Given the description of an element on the screen output the (x, y) to click on. 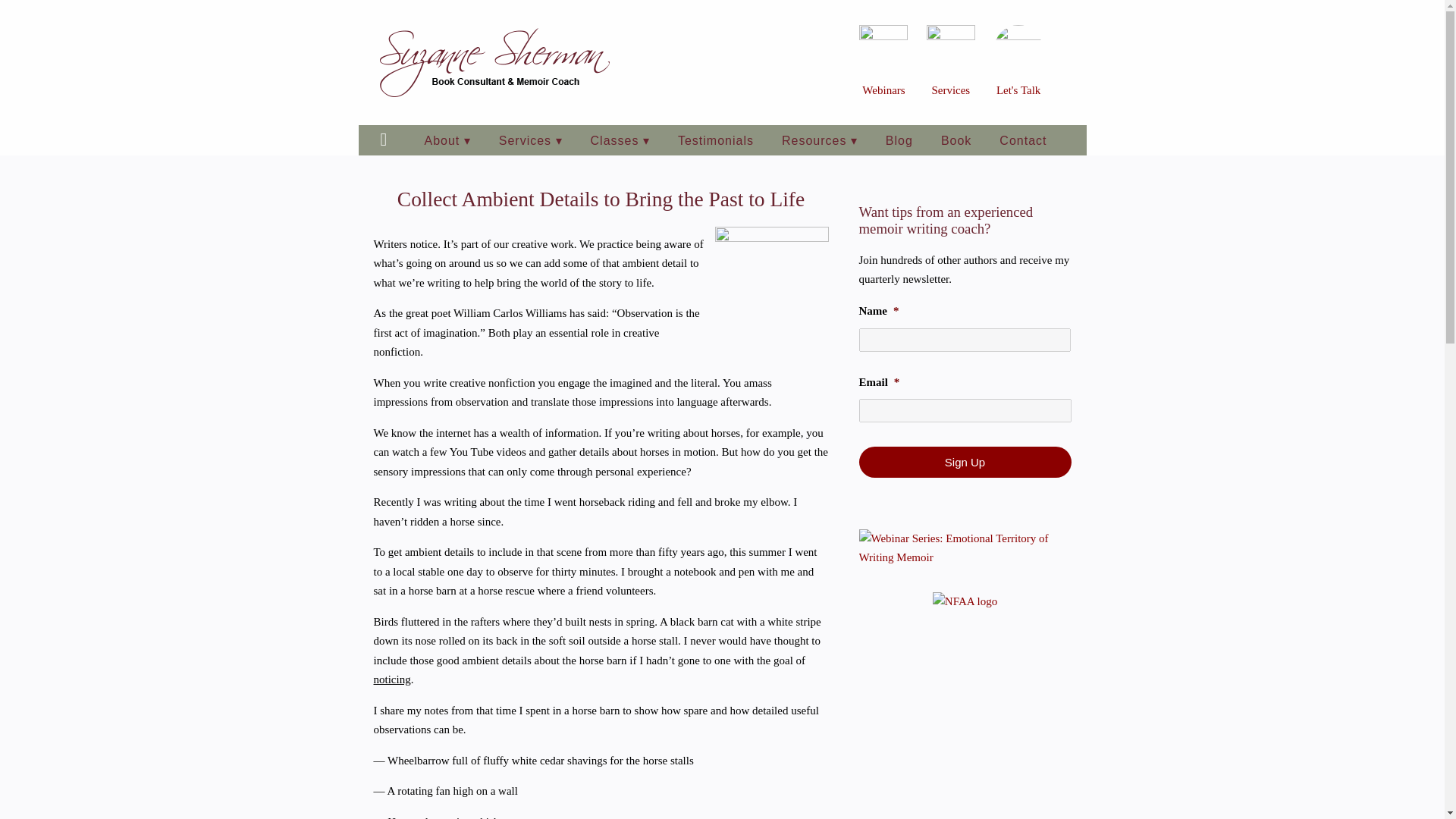
Let's Talk (1018, 90)
Suzanne Sherman (493, 62)
Sign Up (964, 460)
Blog (899, 140)
Testimonials (715, 140)
Webinars (882, 90)
Services (950, 90)
Sign Up (964, 460)
Book (956, 140)
Suzanne Sherman (493, 62)
